Given the description of an element on the screen output the (x, y) to click on. 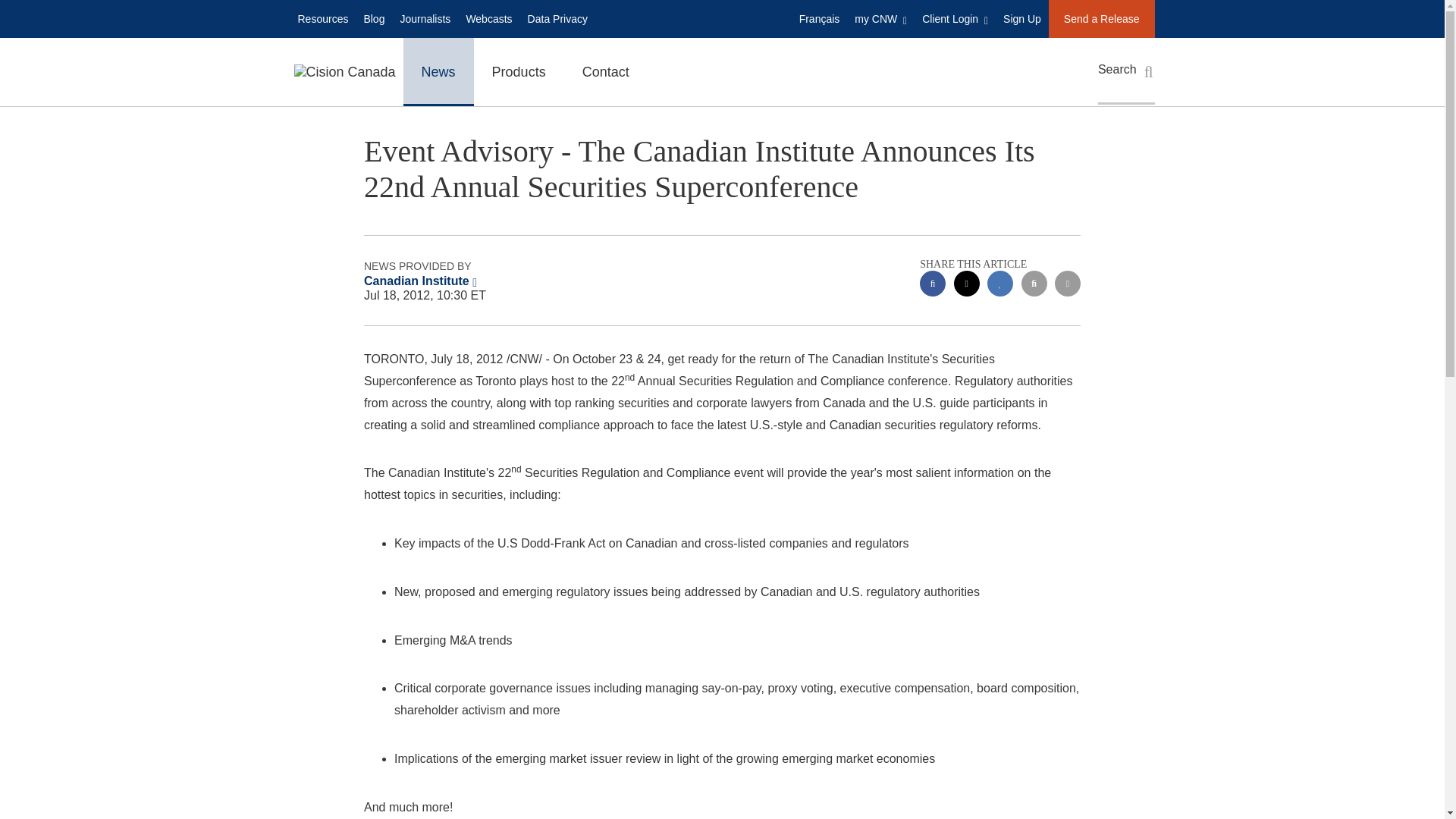
Send a Release (1101, 18)
News (438, 71)
Contact (605, 71)
Client Login  (954, 18)
Sign Up (1021, 18)
Cision Canada (345, 71)
my CNW  (880, 18)
Webcasts (488, 18)
Products (519, 71)
Blog (373, 18)
